Given the description of an element on the screen output the (x, y) to click on. 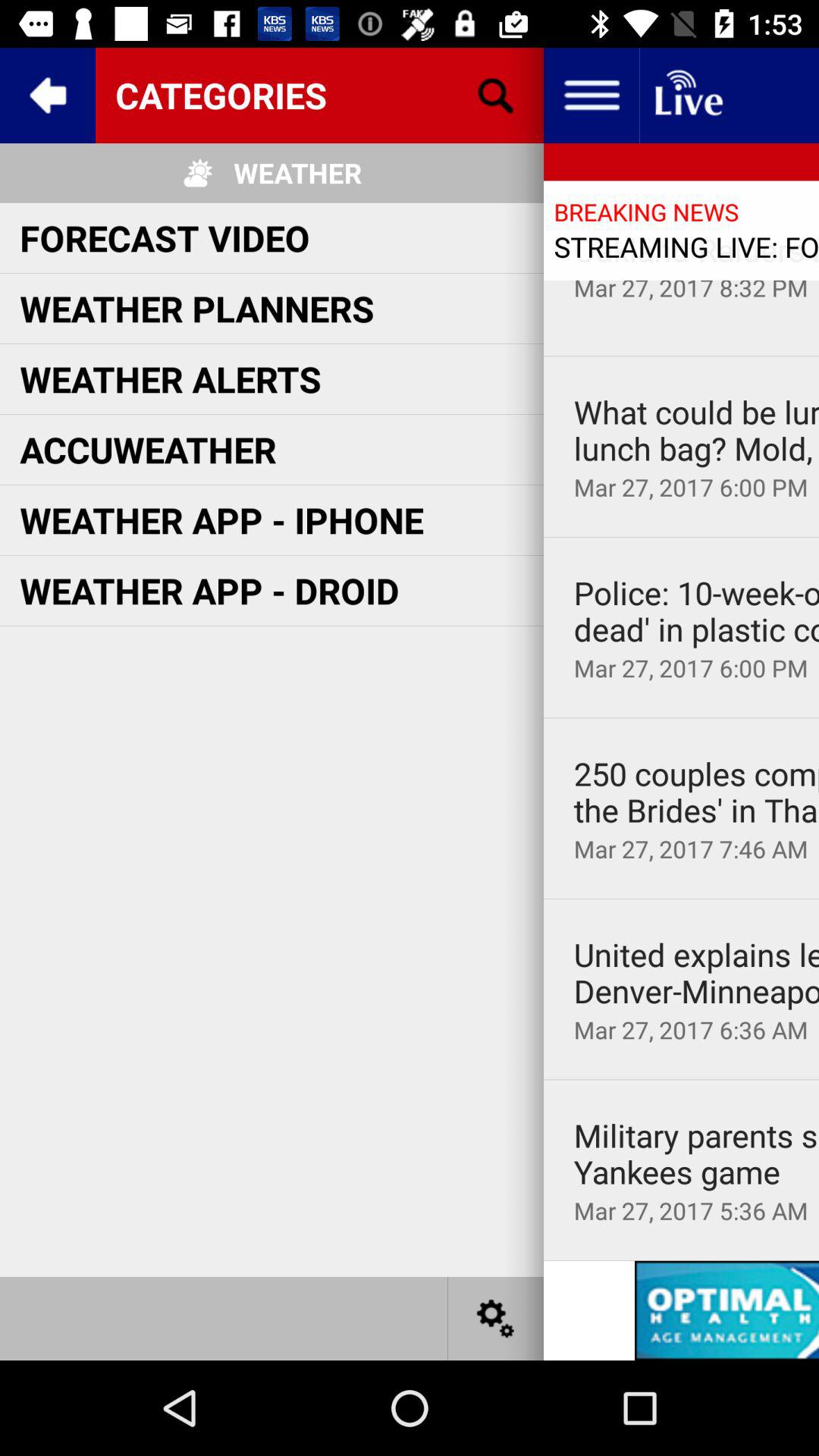
tap icon next to the weather (495, 95)
